Given the description of an element on the screen output the (x, y) to click on. 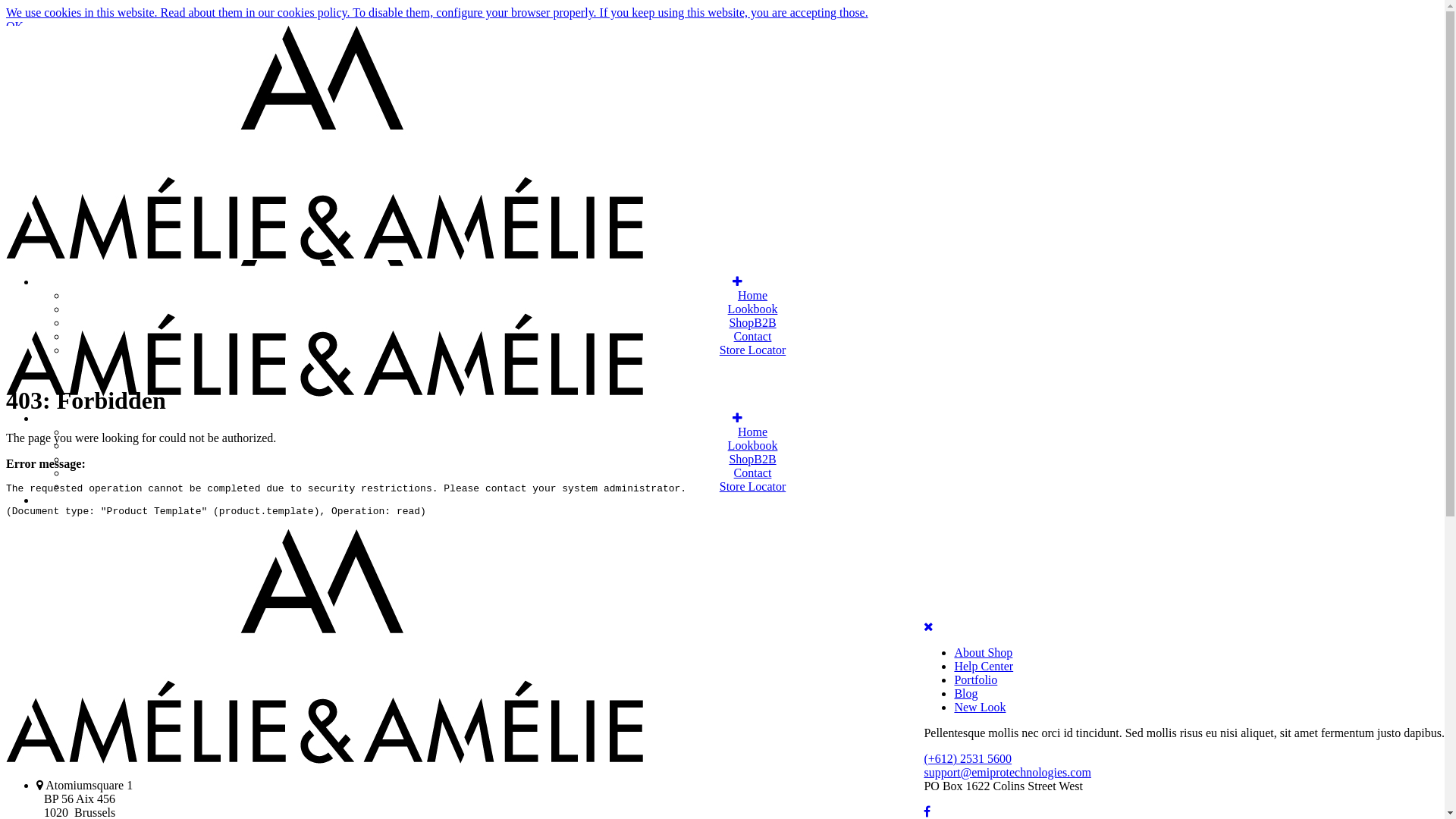
ShopB2B Element type: text (751, 322)
About Shop Element type: text (982, 652)
Contact Element type: text (752, 335)
FR Element type: text (65, 109)
ShopB2B Element type: text (751, 458)
(+612) 2531 5600 Element type: text (967, 758)
Lookbook Element type: text (753, 445)
EN Element type: text (46, 109)
Home Element type: text (752, 431)
support@emiprotechnologies.com Element type: text (1006, 771)
Store Locator Element type: text (752, 349)
Nederlands (BE) Element type: text (214, 123)
Help Center Element type: text (983, 665)
Lookbook Element type: text (753, 308)
English (US) Element type: text (69, 123)
0 Element type: text (15, 68)
Contact Element type: text (752, 472)
New Look Element type: text (979, 706)
Blog Element type: text (965, 693)
EN Element type: text (49, 95)
Home Element type: text (752, 294)
Store Locator Element type: text (752, 486)
NL Element type: text (83, 109)
Portfolio Element type: text (975, 679)
OK Element type: text (14, 25)
